Given the description of an element on the screen output the (x, y) to click on. 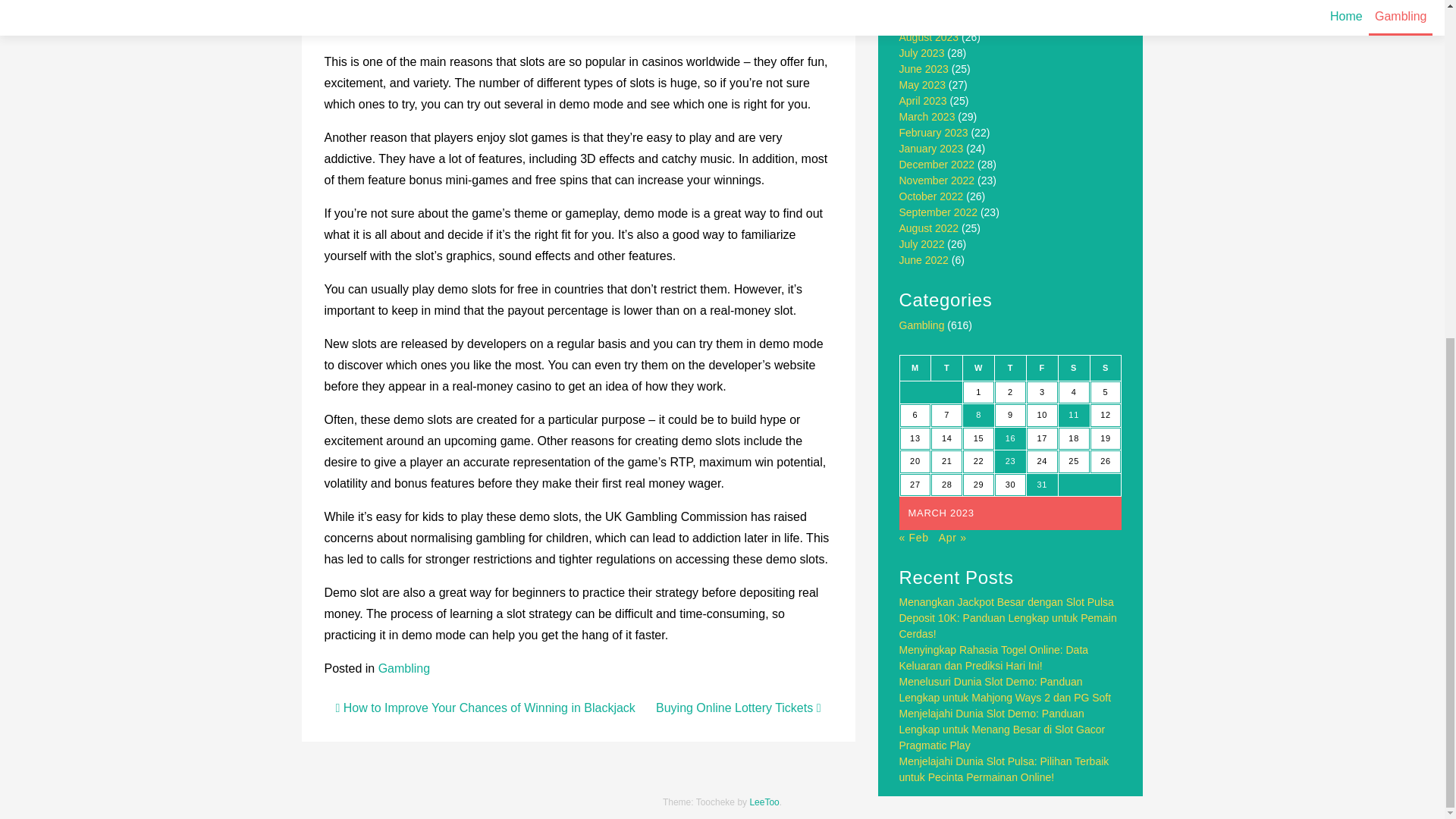
January 2023 (931, 148)
November 2022 (937, 180)
2 (1010, 392)
Gambling (403, 667)
Gambling (921, 325)
Thursday (1010, 367)
Sunday (1105, 367)
February 2023 (933, 132)
June 2022 (924, 259)
October 2023 (931, 5)
